Given the description of an element on the screen output the (x, y) to click on. 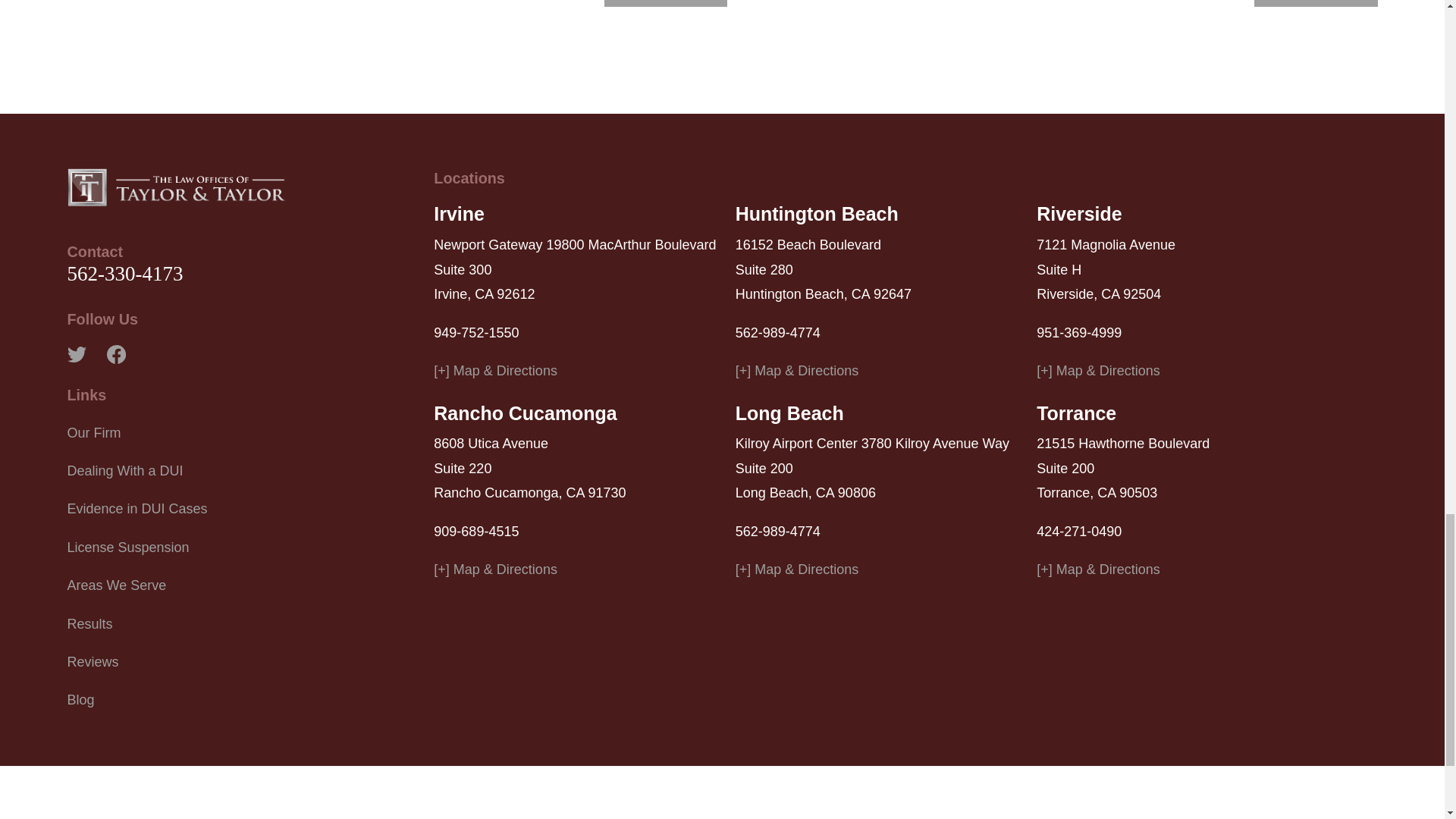
Twitter (75, 353)
Home (175, 187)
Facebook (115, 353)
